Given the description of an element on the screen output the (x, y) to click on. 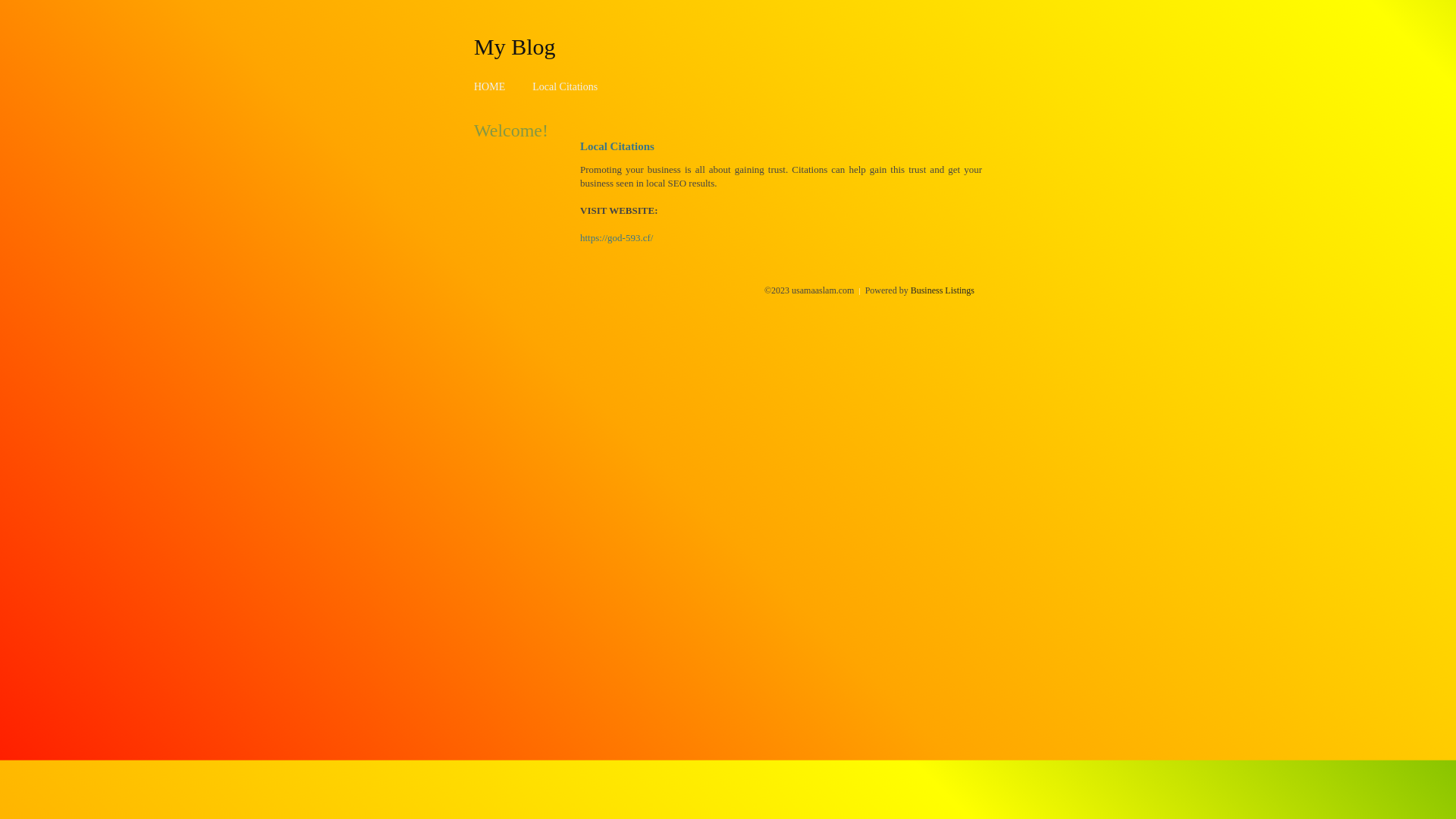
https://god-593.cf/ Element type: text (616, 237)
My Blog Element type: text (514, 46)
Business Listings Element type: text (942, 290)
Local Citations Element type: text (564, 86)
HOME Element type: text (489, 86)
